Given the description of an element on the screen output the (x, y) to click on. 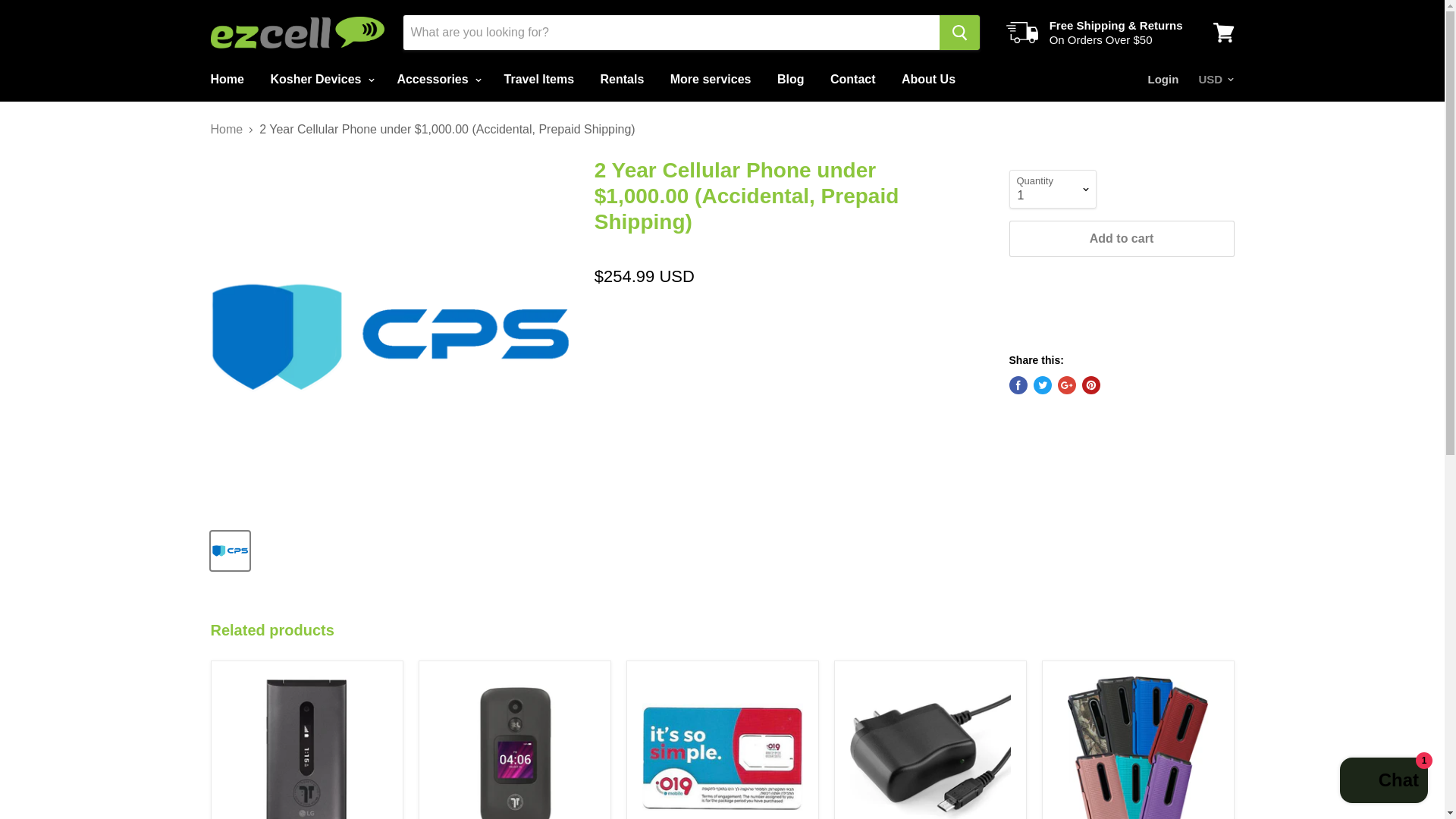
More services (710, 79)
View cart (1223, 32)
Accessories (437, 79)
About Us (927, 79)
Home (226, 79)
Shopify online store chat (1383, 781)
Contact (852, 79)
Login (1163, 79)
Rentals (622, 79)
Travel Items (539, 79)
Kosher Devices (320, 79)
Blog (790, 79)
